Given the description of an element on the screen output the (x, y) to click on. 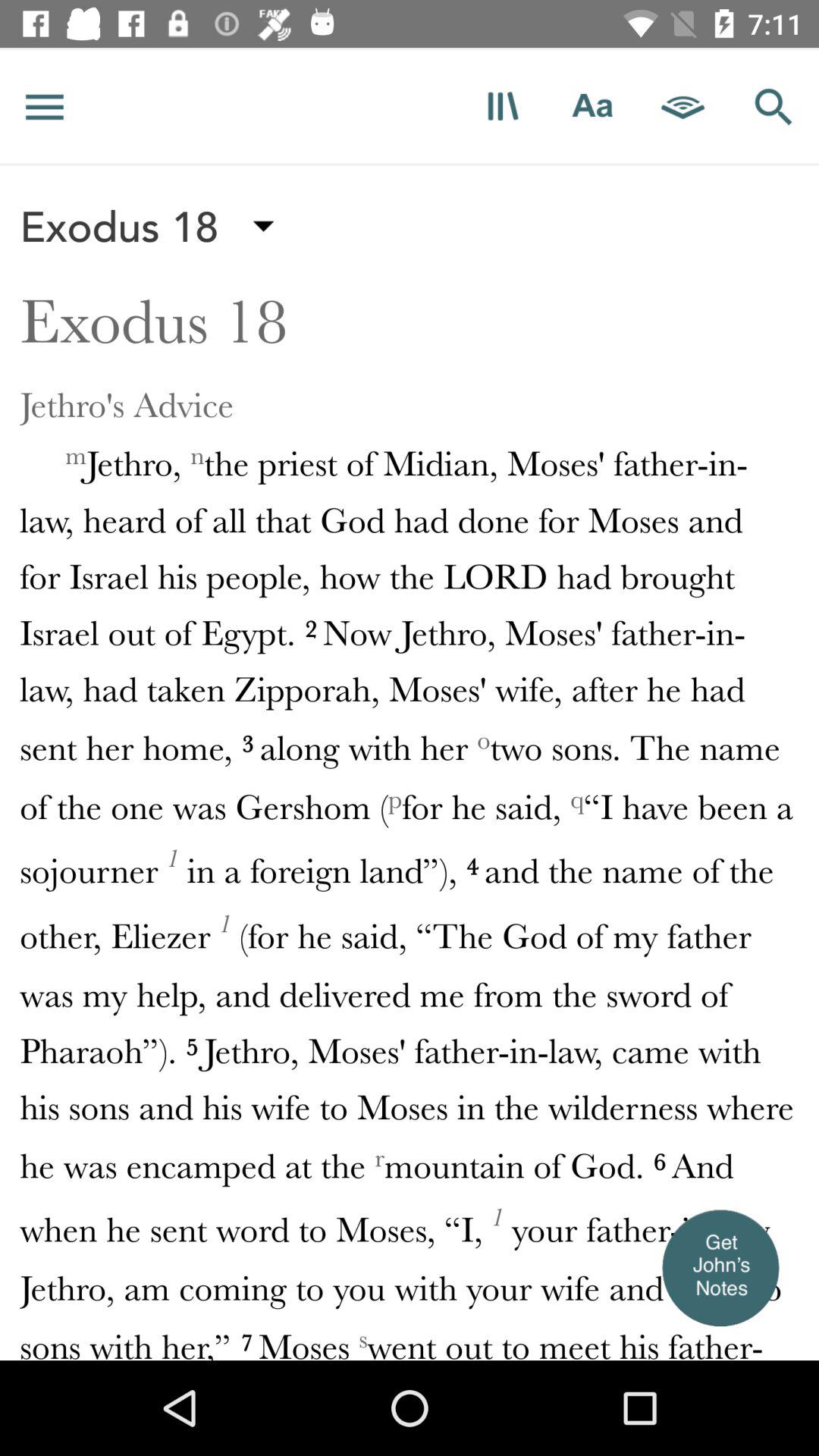
bookmark that page (502, 106)
